Given the description of an element on the screen output the (x, y) to click on. 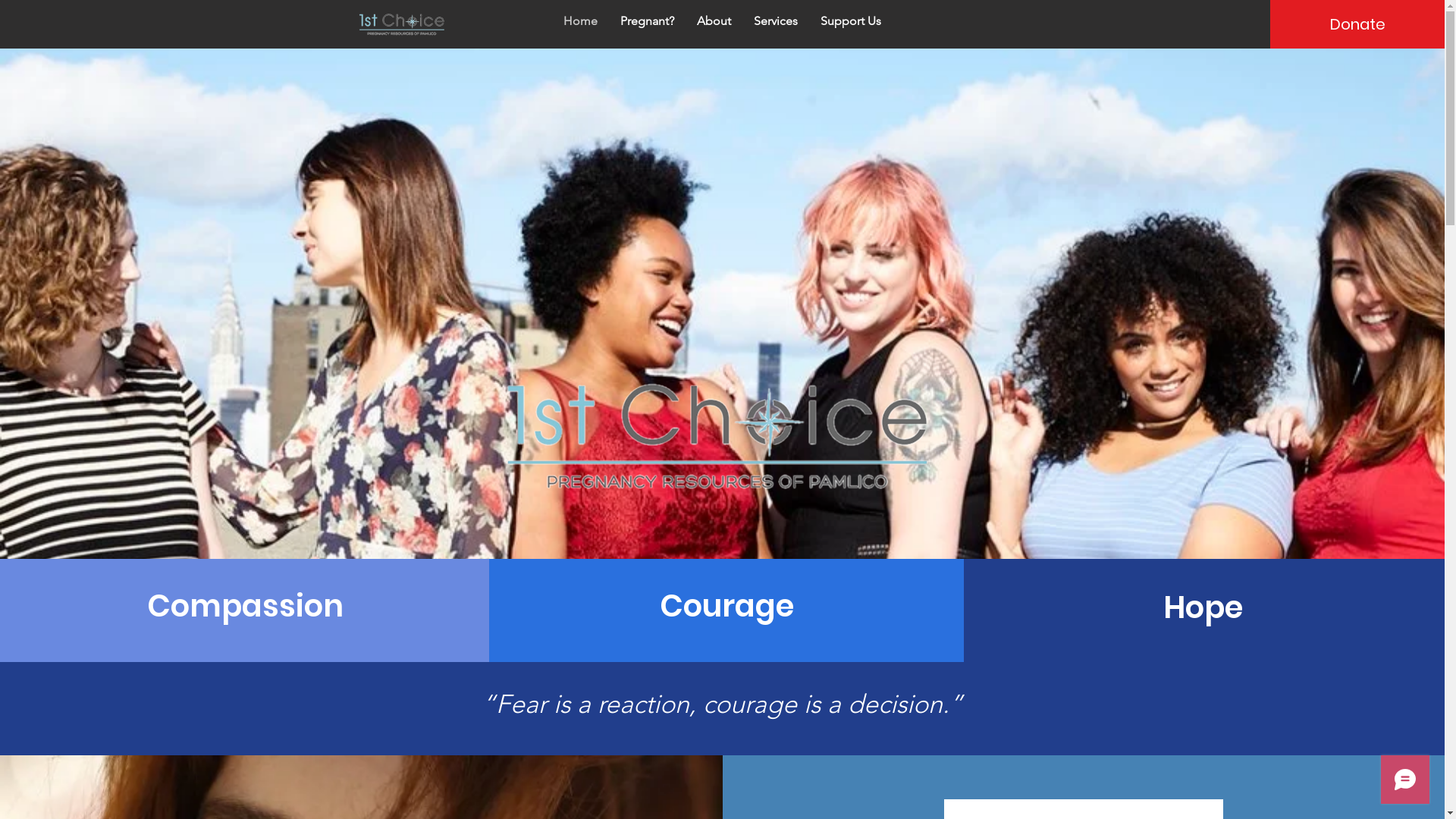
About Element type: text (713, 20)
Pregnant? Element type: text (646, 20)
Hope Element type: text (1202, 607)
Support Us Element type: text (850, 20)
Services Element type: text (775, 20)
Home Element type: text (580, 20)
Donate Element type: text (1357, 24)
Compassion Element type: text (245, 605)
Courage Element type: text (726, 605)
